Given the description of an element on the screen output the (x, y) to click on. 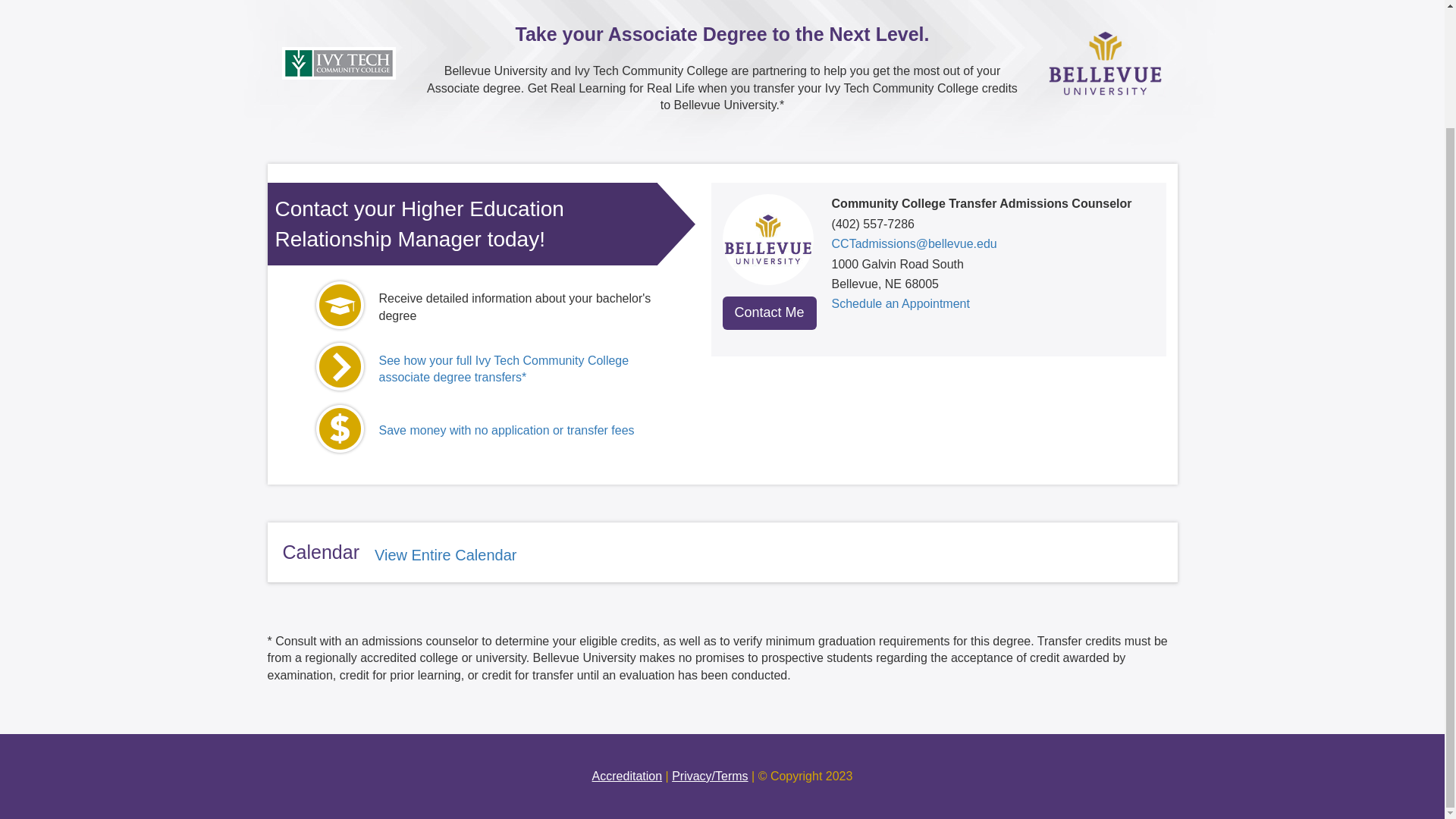
View Entire Calendar (445, 555)
Save money with no application or transfer fees (506, 430)
Contact Me (768, 313)
Schedule an Appointment (900, 303)
Accreditation (627, 775)
